Given the description of an element on the screen output the (x, y) to click on. 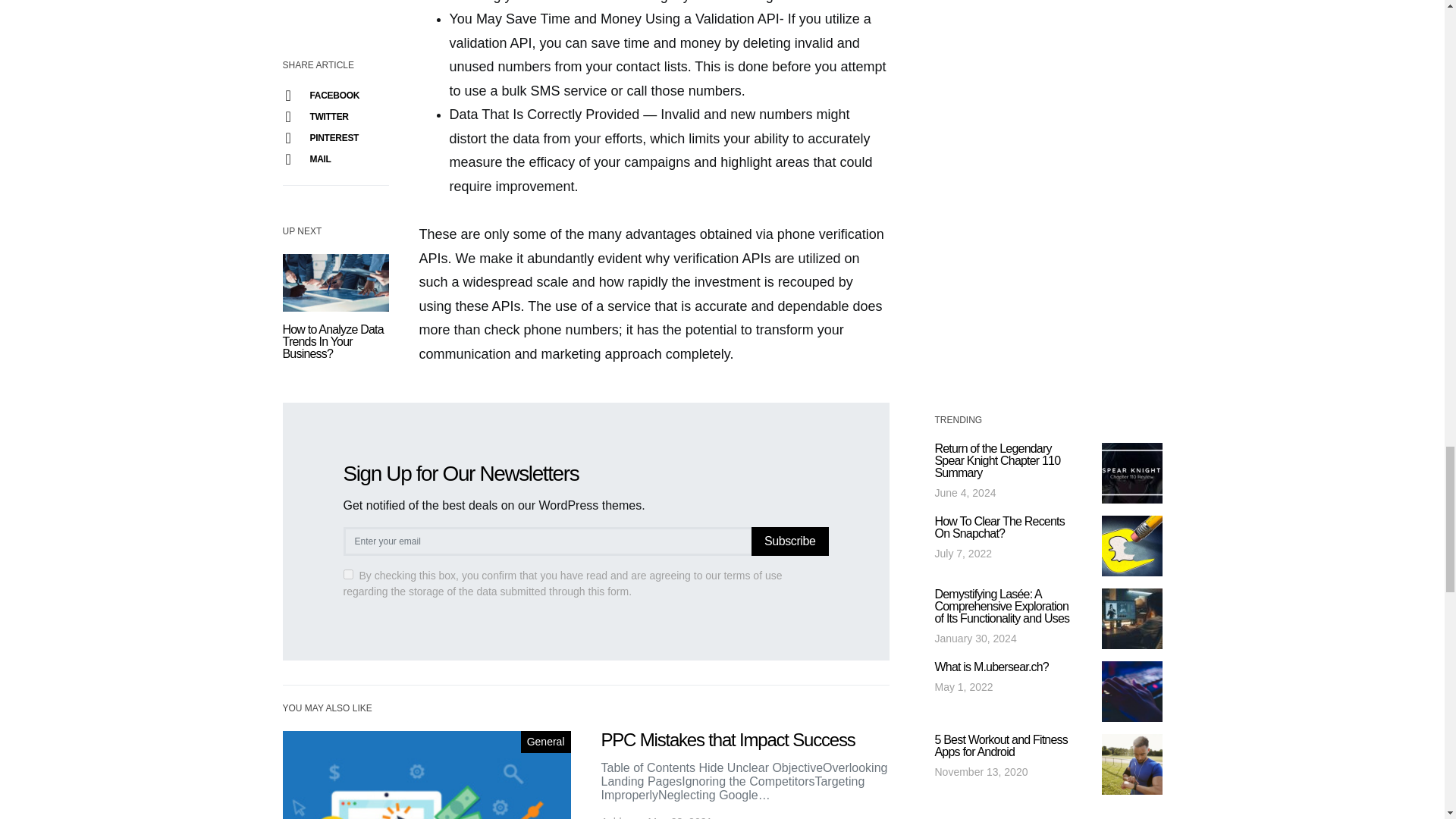
View all posts by Ashley (615, 816)
on (347, 574)
